Given the description of an element on the screen output the (x, y) to click on. 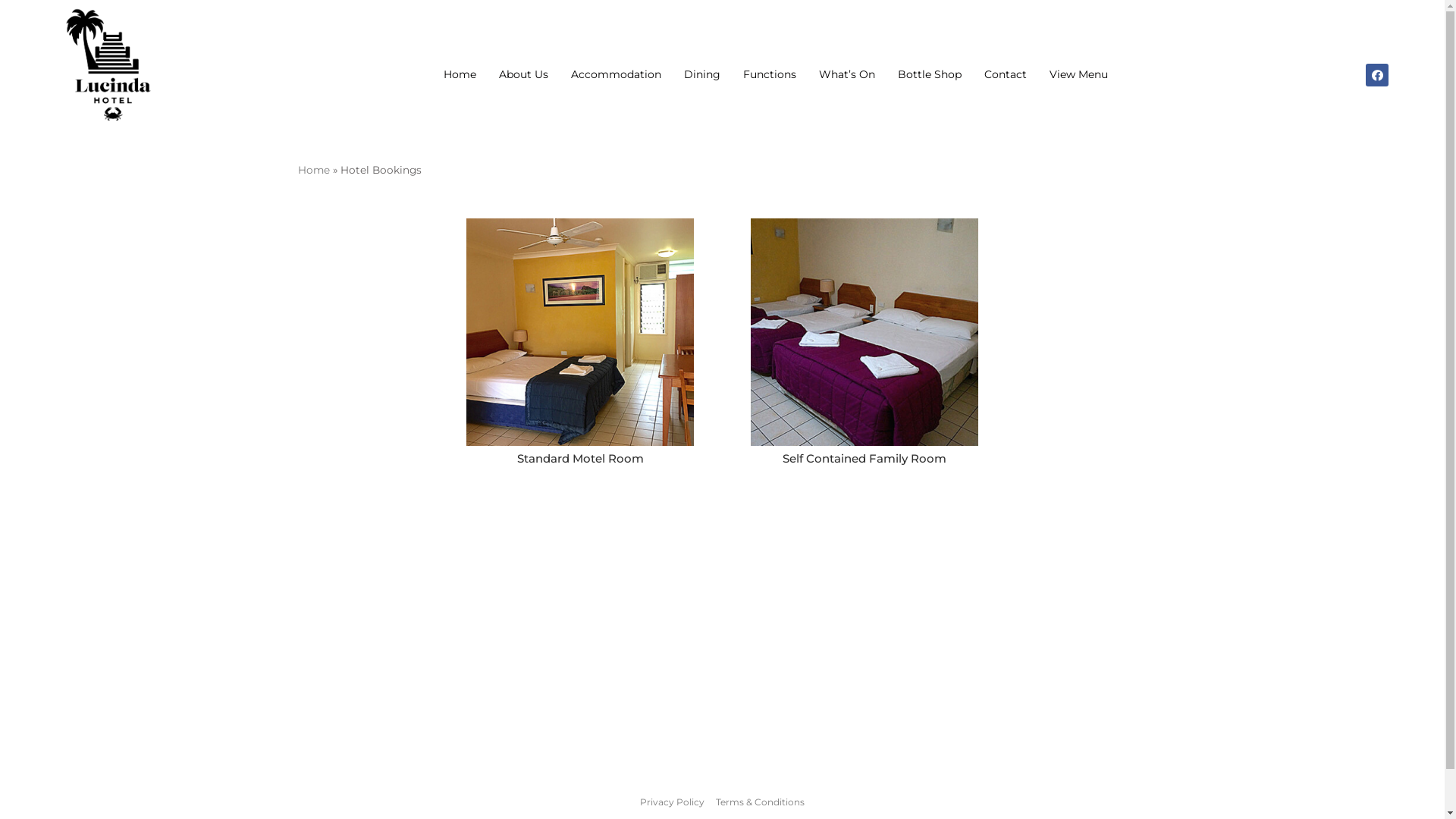
Home Element type: text (313, 169)
View Menu Element type: text (1078, 74)
Privacy Policy Element type: text (674, 801)
Home Element type: text (459, 74)
About Us Element type: text (523, 74)
Bottle Shop Element type: text (929, 74)
Dining Element type: text (701, 74)
Lucinda Point Hotel Motel Element type: hover (721, 648)
Accommodation Element type: text (615, 74)
Contact Element type: text (1005, 74)
Terms & Conditions Element type: text (757, 801)
Functions Element type: text (769, 74)
